Given the description of an element on the screen output the (x, y) to click on. 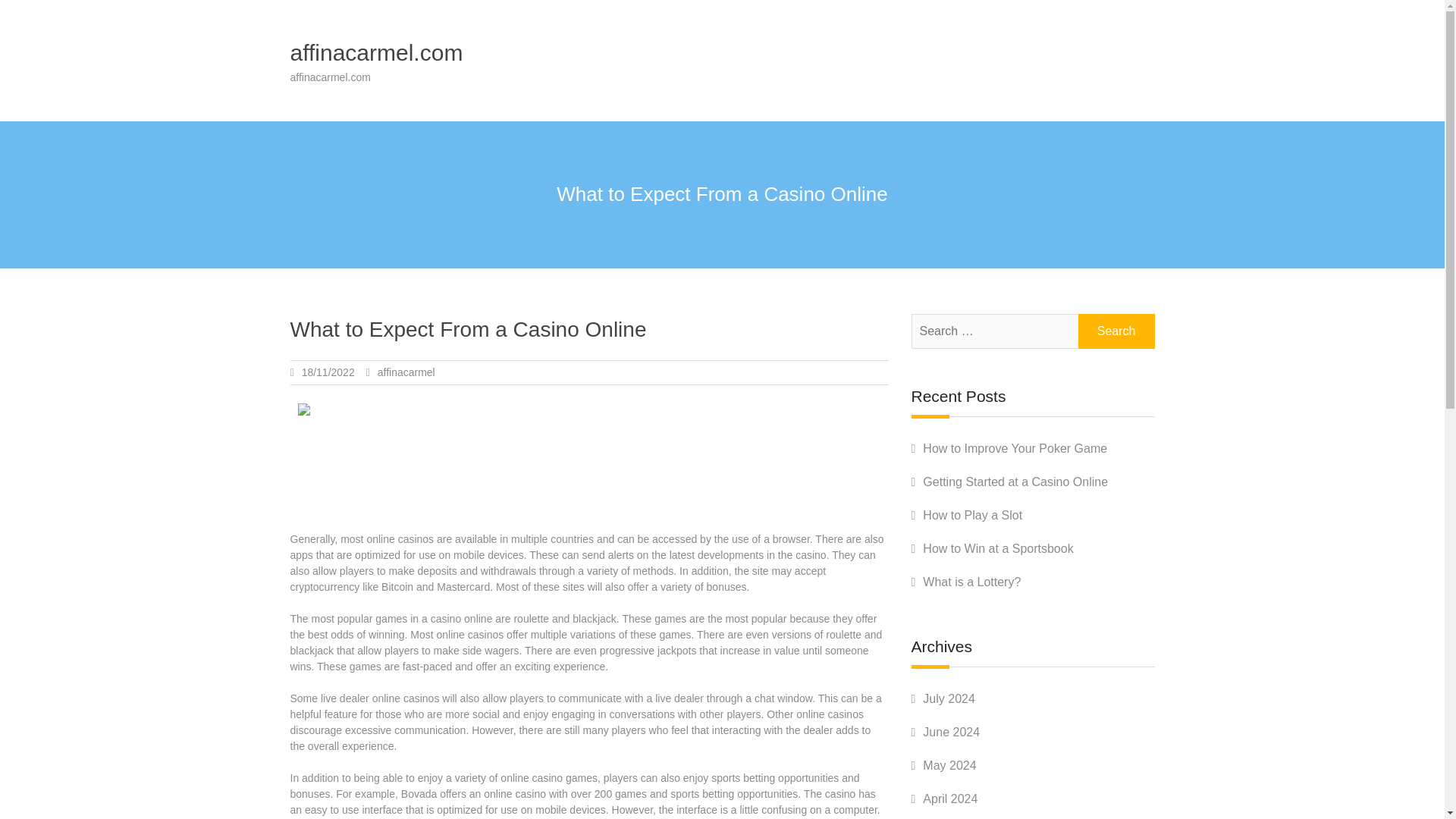
Search (1116, 330)
affinacarmel (406, 372)
July 2024 (949, 698)
How to Win at a Sportsbook (998, 548)
What is a Lottery? (971, 581)
How to Improve Your Poker Game (1014, 448)
May 2024 (949, 765)
How to Play a Slot (972, 514)
June 2024 (951, 731)
Search (1116, 330)
April 2024 (949, 798)
Getting Started at a Casino Online (1015, 481)
affinacarmel.com (376, 52)
Search (1116, 330)
